Given the description of an element on the screen output the (x, y) to click on. 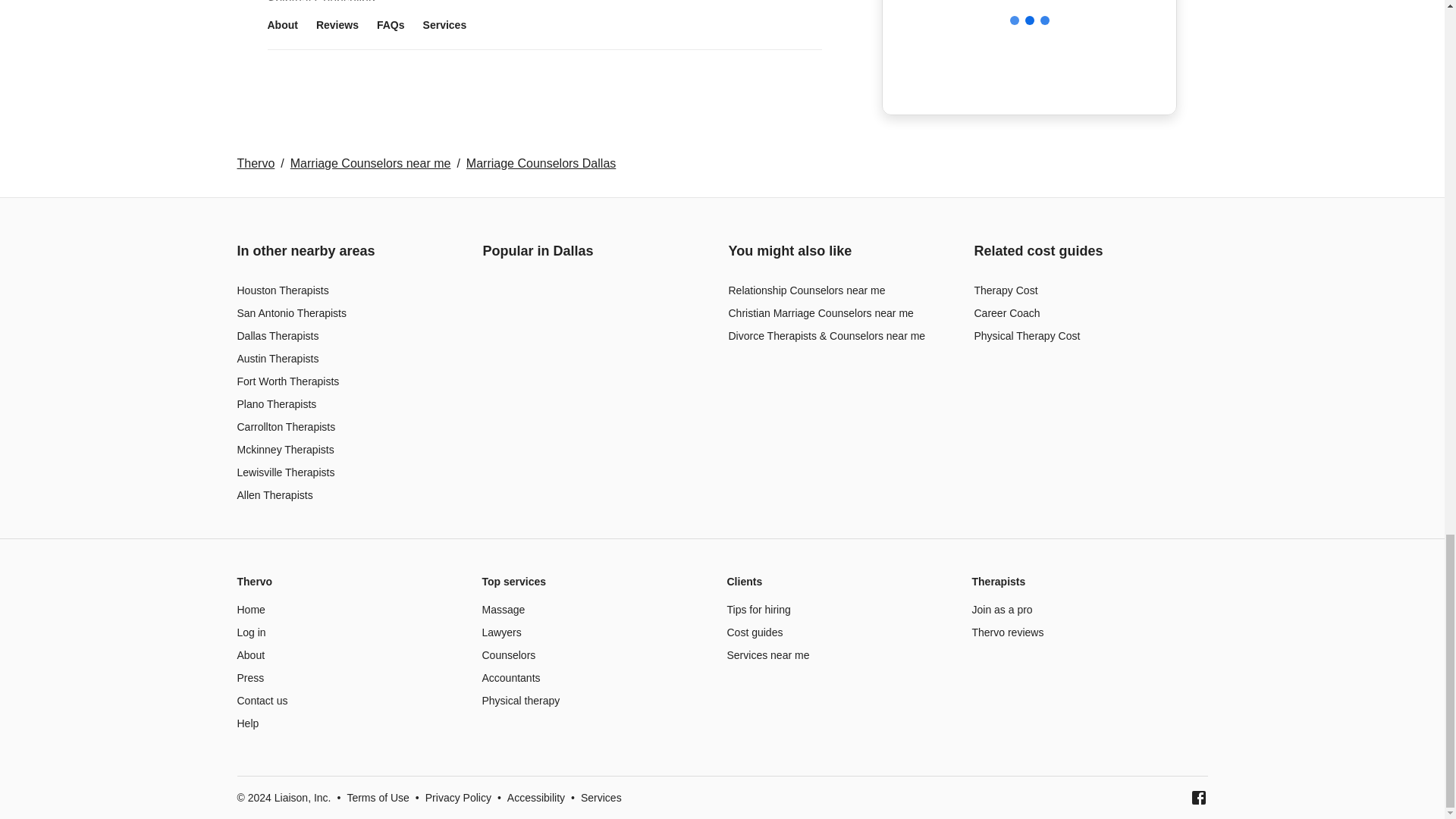
Allen Therapists (274, 494)
Mckinney Therapists (284, 449)
Fort Worth Therapists (287, 381)
Marriage Counselors Dallas (540, 163)
Marriage Counselors near me (370, 163)
Houston Therapists (282, 290)
Austin Therapists (276, 358)
Plano Therapists (275, 404)
Relationship Counselors near me (806, 290)
Carrollton Therapists (284, 426)
Christian Marriage Counselors near me (820, 313)
Thervo (255, 163)
Facebook (1198, 797)
San Antonio Therapists (290, 313)
Dallas Therapists (276, 336)
